Given the description of an element on the screen output the (x, y) to click on. 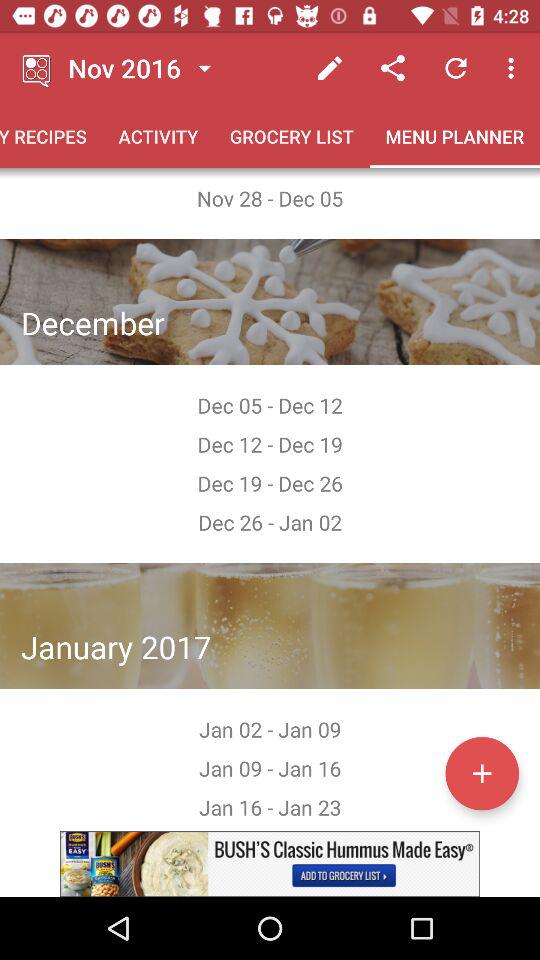
increment button (482, 773)
